Given the description of an element on the screen output the (x, y) to click on. 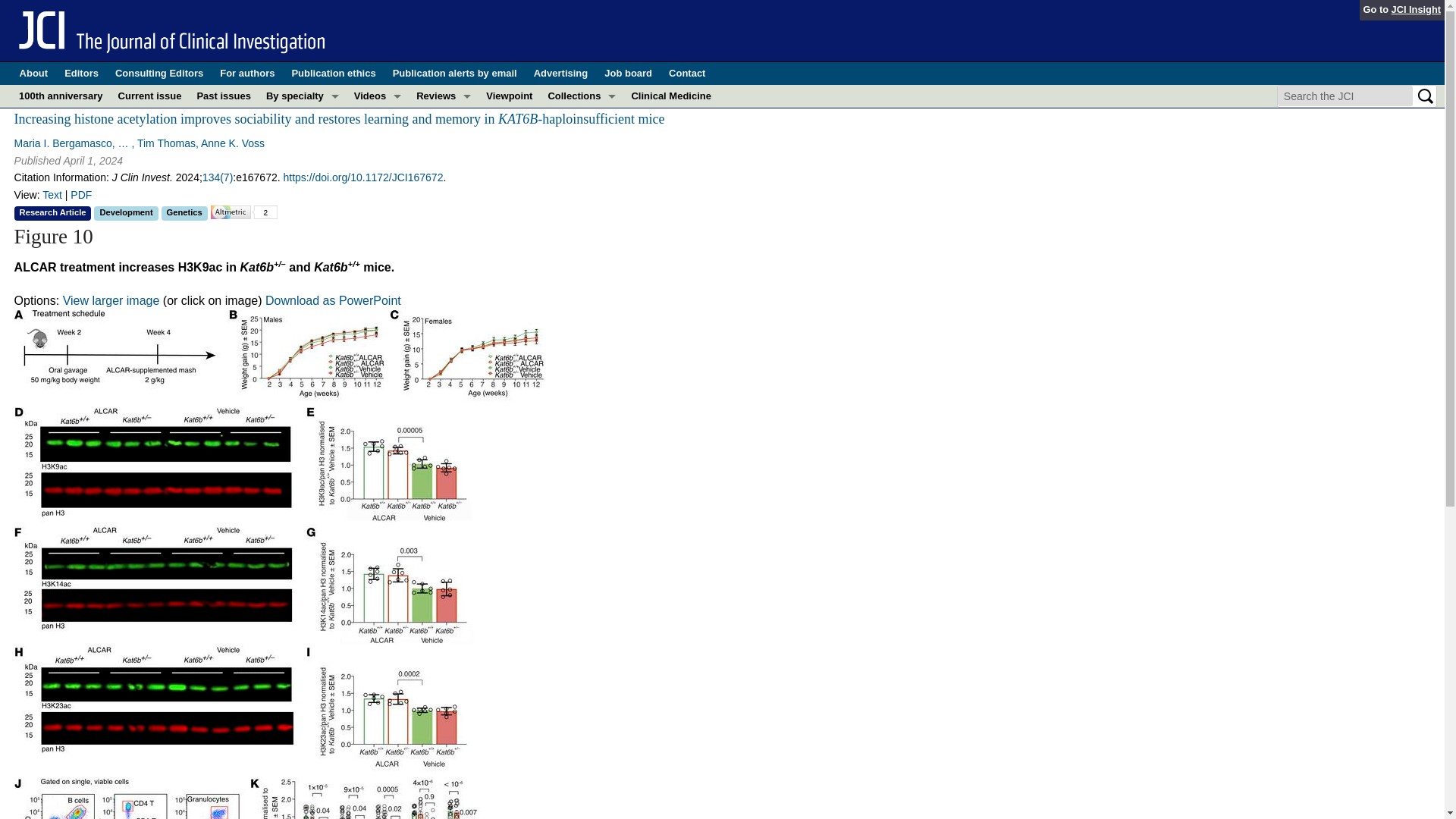
Videos (377, 96)
Consulting Editors (159, 73)
Nephrology (302, 232)
JCI Insight (1416, 9)
Job board (628, 73)
Current issue (149, 96)
Conversations with Giants in Medicine (377, 118)
Gastroenterology (302, 164)
Neuroscience (302, 255)
Contact (686, 73)
Cardiology (302, 141)
Metabolism (302, 210)
About (34, 73)
100th anniversary (60, 96)
Oncology (302, 277)
